Given the description of an element on the screen output the (x, y) to click on. 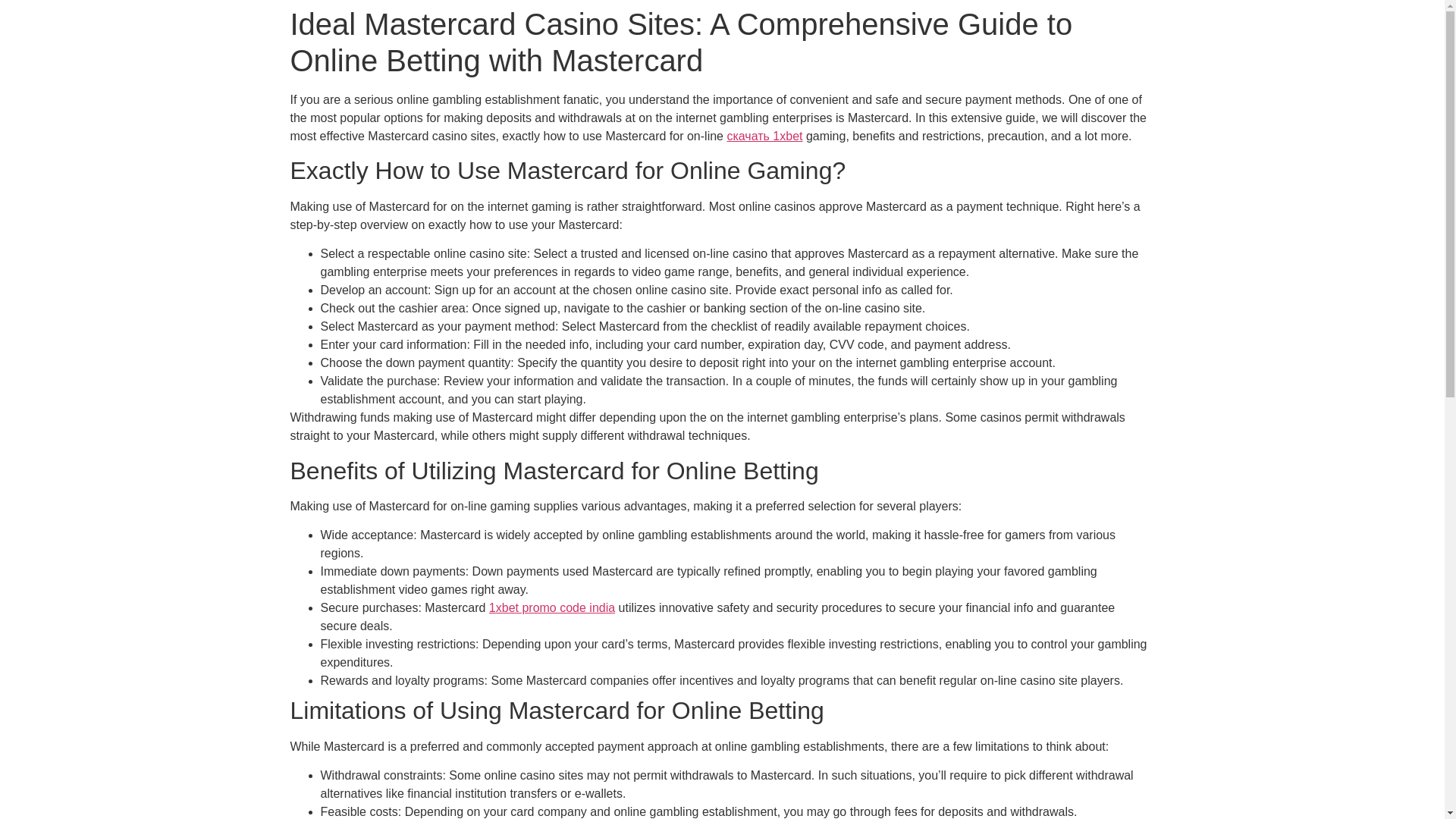
1xbet promo code india (551, 607)
